Given the description of an element on the screen output the (x, y) to click on. 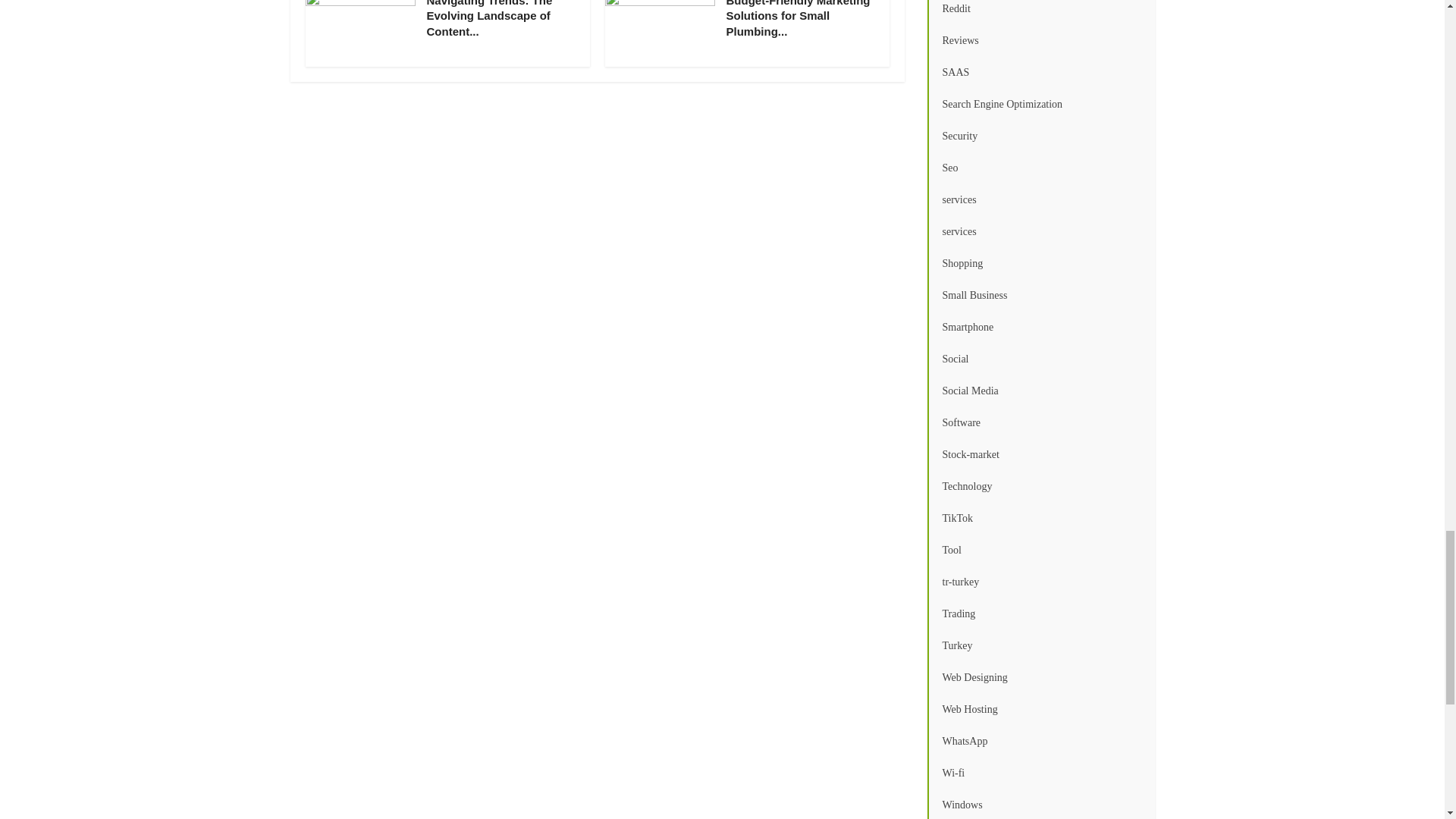
Budget-Friendly Marketing Solutions for Small Plumbing... (798, 18)
Navigating Trends: The Evolving Landscape of Content... (488, 18)
